Given the description of an element on the screen output the (x, y) to click on. 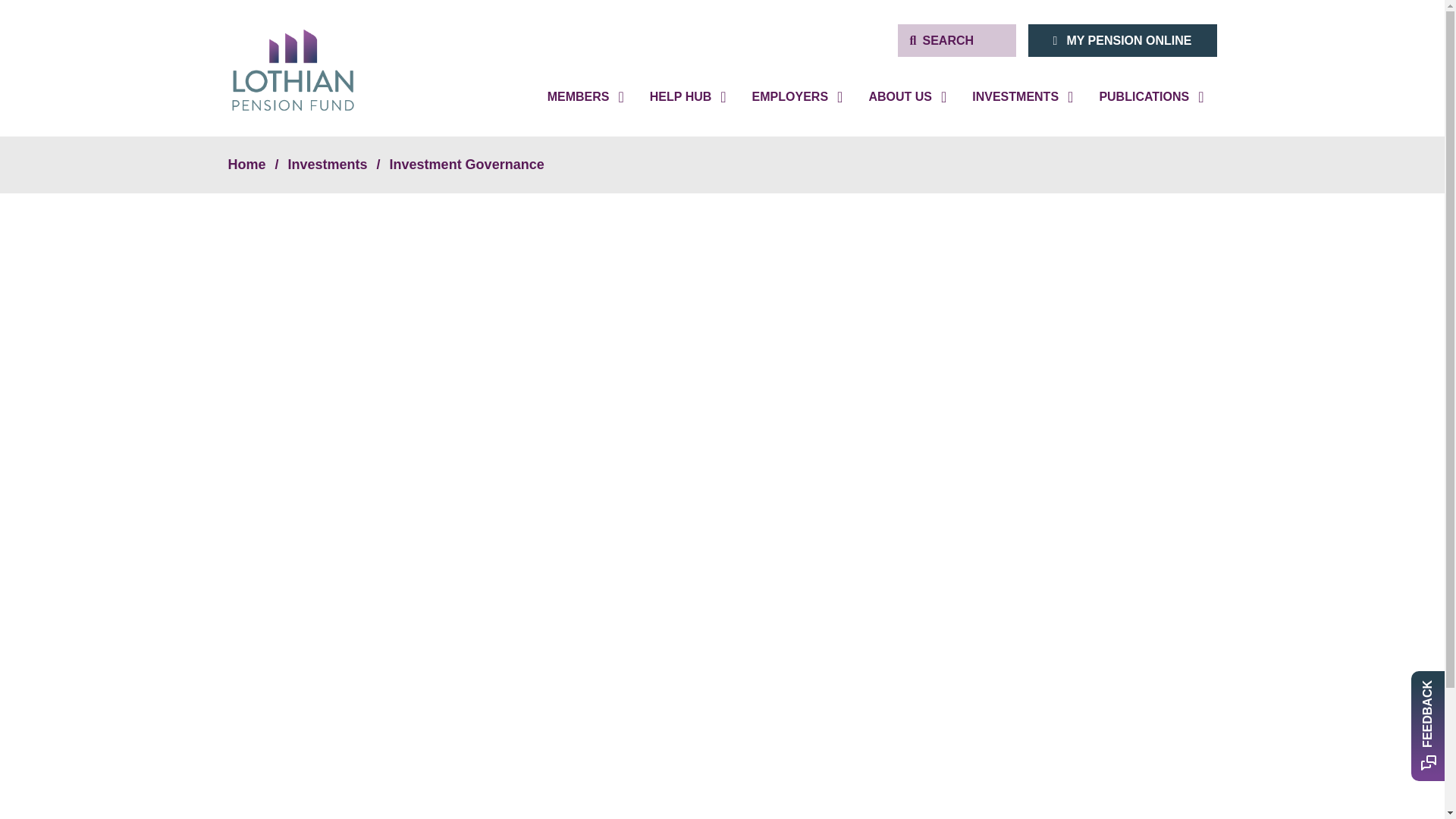
MEMBERS (585, 96)
MY PENSION ONLINE (1122, 40)
